Given the description of an element on the screen output the (x, y) to click on. 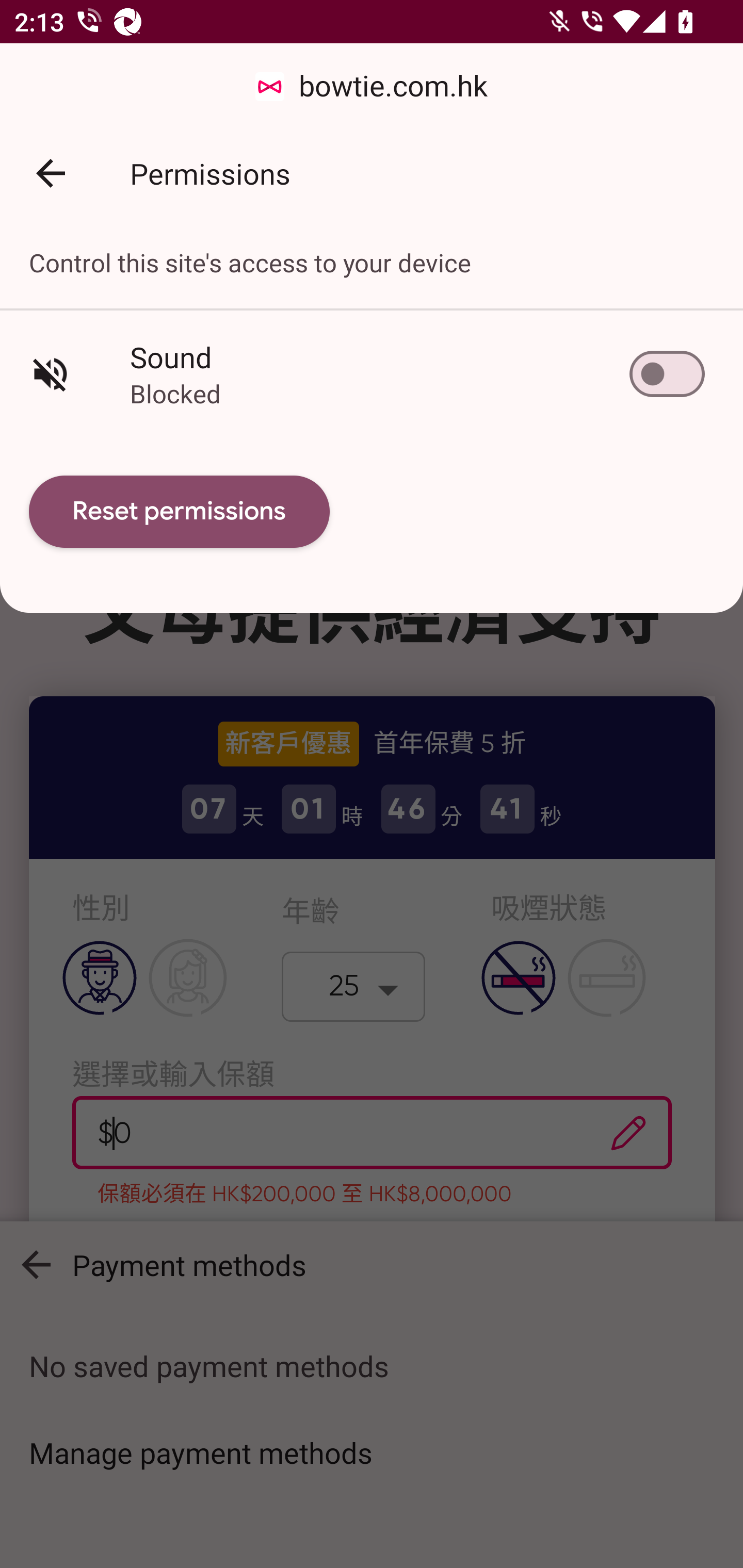
bowtie.com.hk (371, 86)
Back (50, 173)
Sound Blocked (371, 373)
Reset permissions (178, 511)
